Given the description of an element on the screen output the (x, y) to click on. 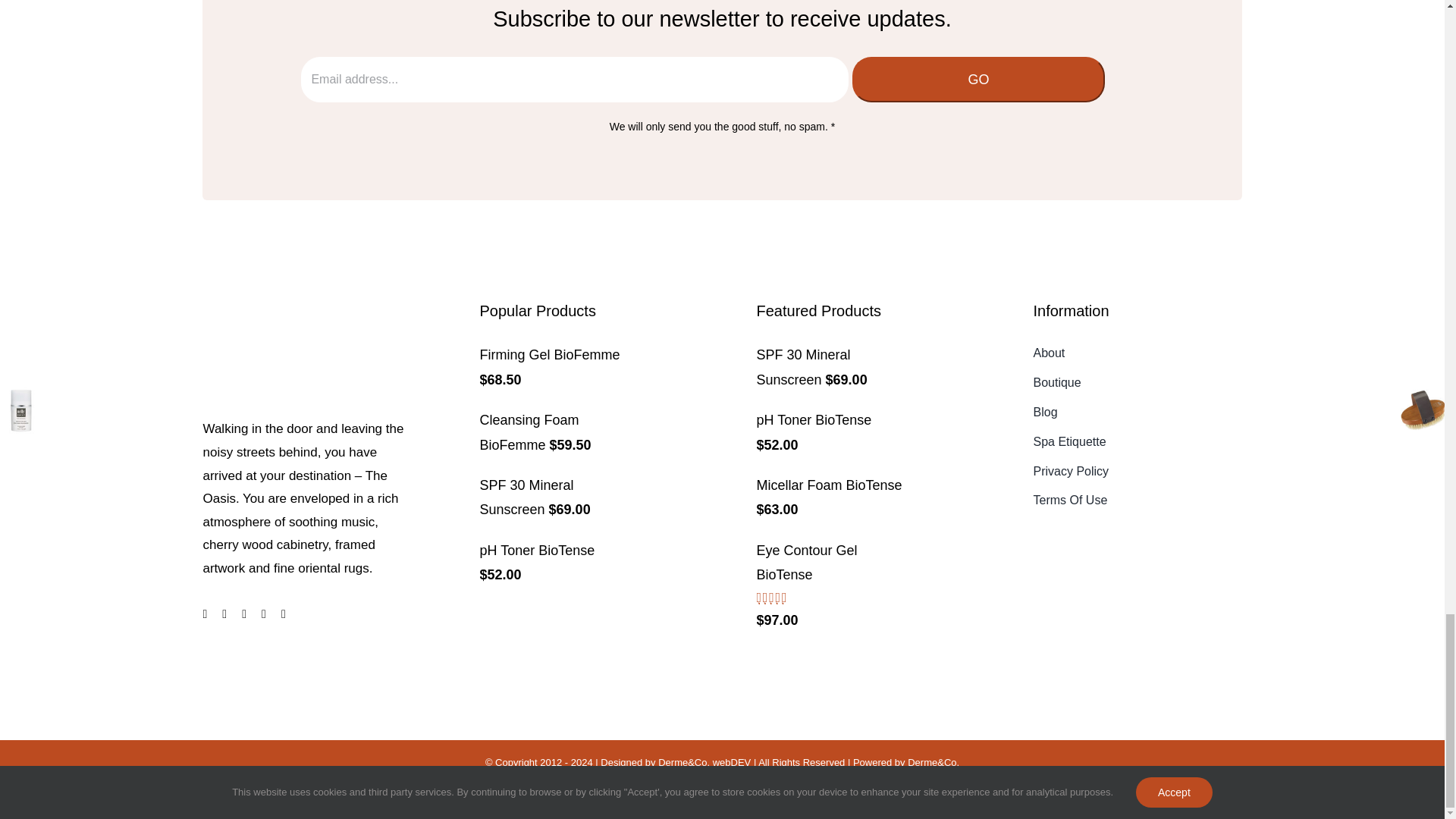
GO (978, 79)
